Given the description of an element on the screen output the (x, y) to click on. 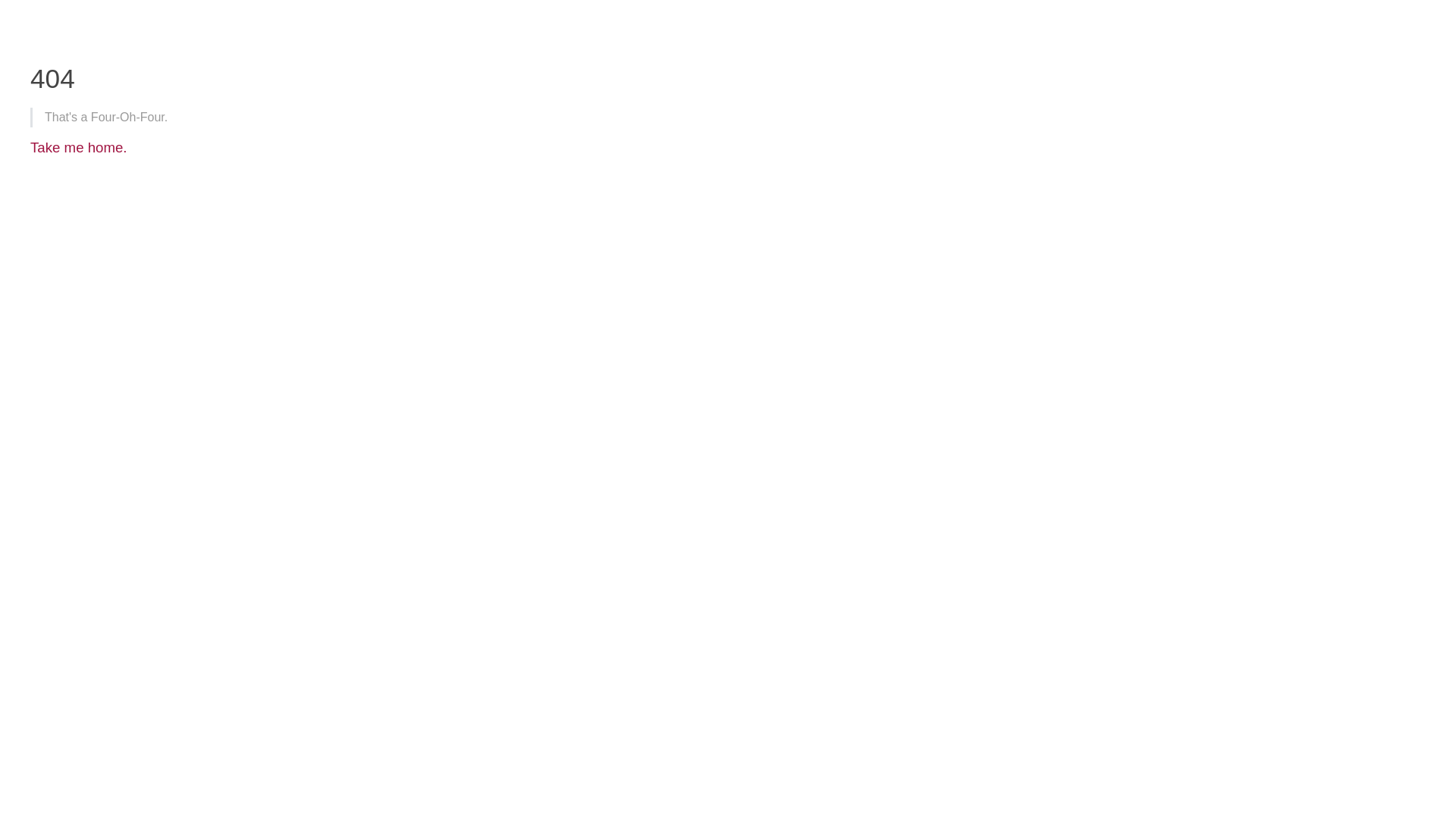
Take me home. Element type: text (78, 147)
